Given the description of an element on the screen output the (x, y) to click on. 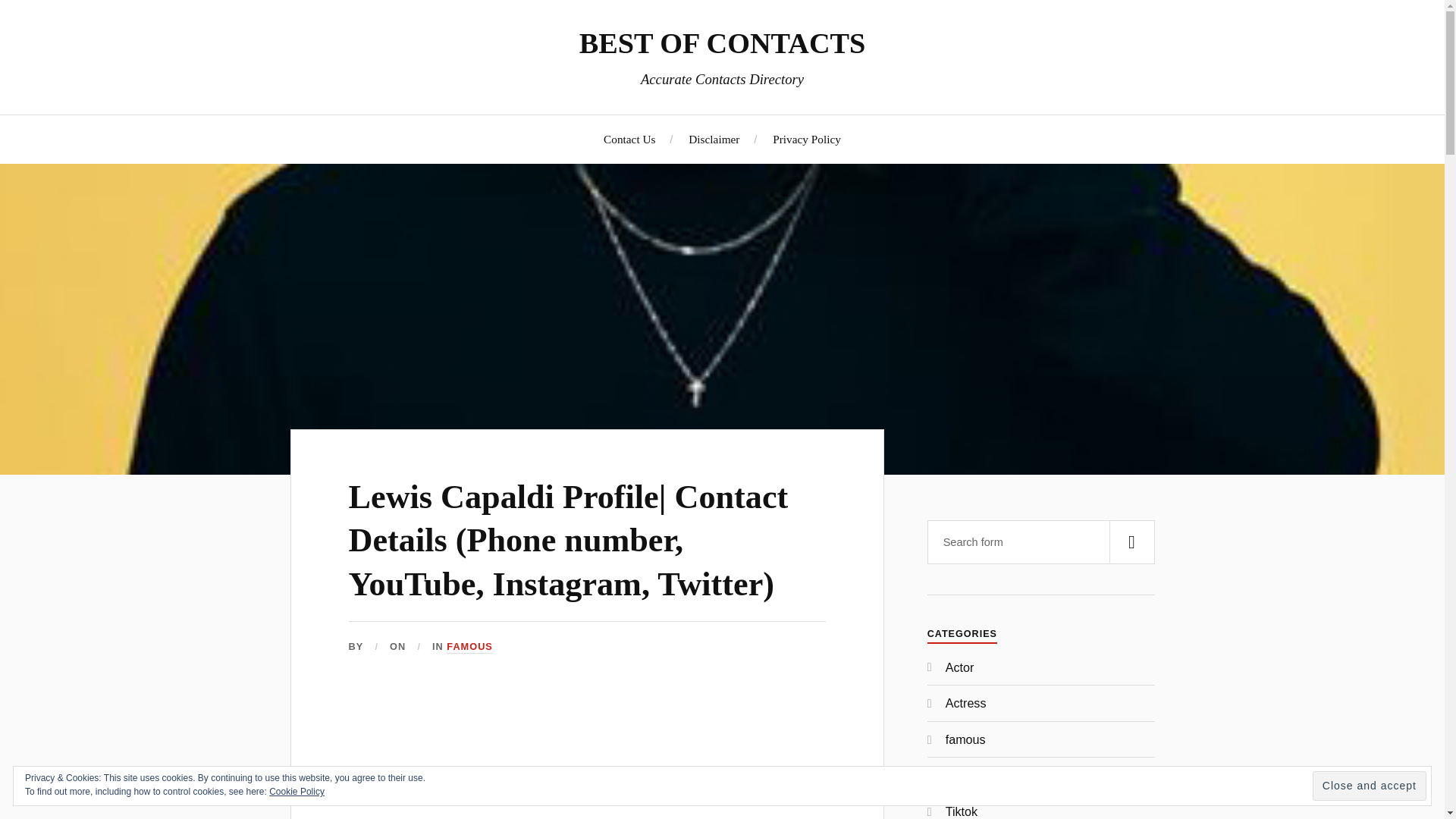
Close and accept (1369, 785)
Tiktok (960, 811)
Cookie Policy (296, 791)
Close and accept (1369, 785)
Privacy Policy (807, 138)
famous (964, 739)
Gaming (966, 775)
Advertisement (587, 756)
Actor (959, 667)
Disclaimer (713, 138)
Actress (965, 703)
BEST OF CONTACTS (722, 42)
Contact Us (629, 138)
FAMOUS (469, 646)
